Given the description of an element on the screen output the (x, y) to click on. 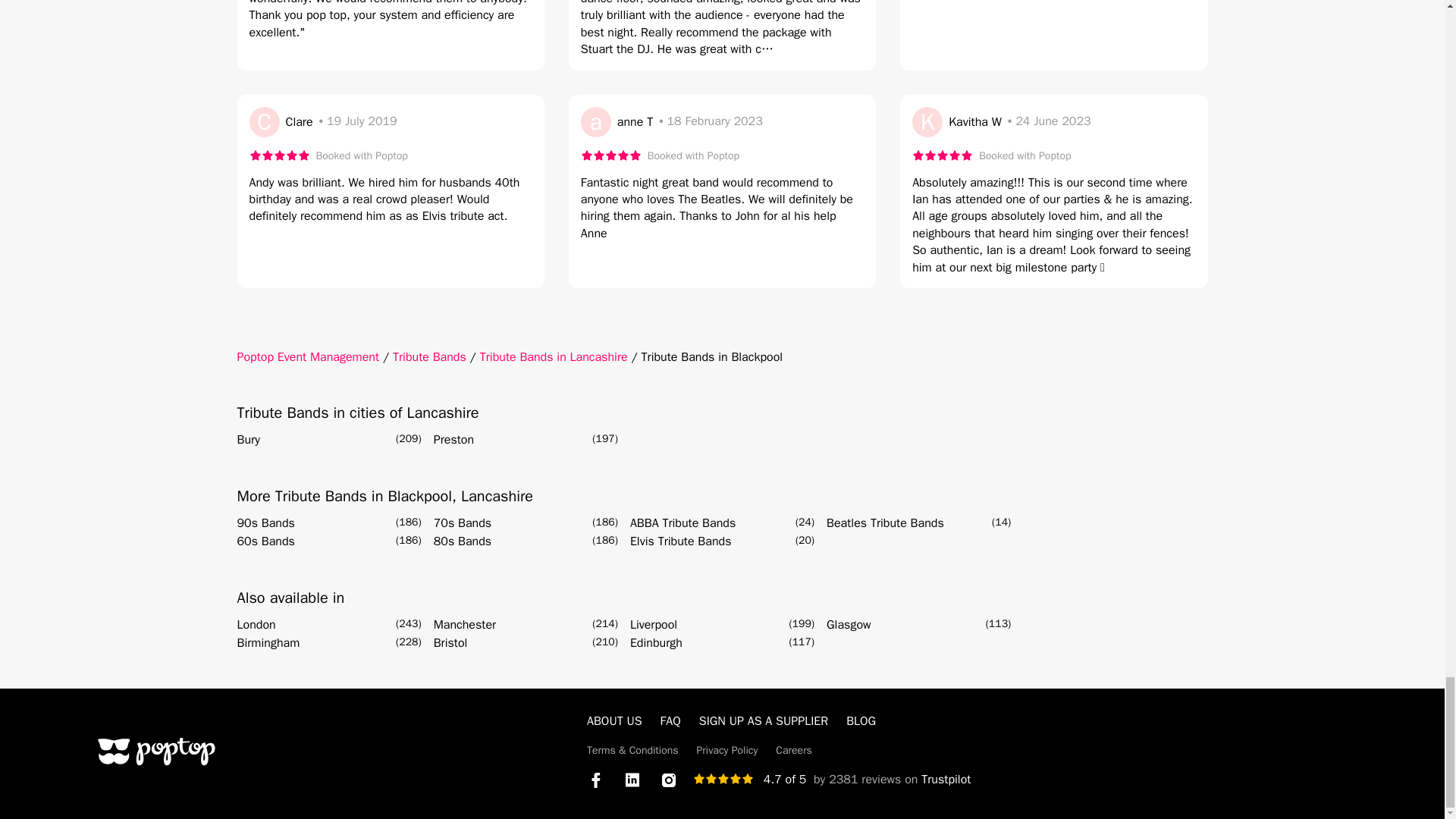
Tribute Bands (429, 356)
Preston (453, 439)
Elvis Tribute Bands (681, 541)
90s Bands (264, 523)
Tribute Bands in Lancashire (553, 356)
London (255, 624)
Beatles Tribute Bands (885, 523)
Birmingham (267, 642)
Poptop Event Management (306, 356)
70s Bands (462, 523)
60s Bands (264, 541)
Manchester (464, 624)
ABBA Tribute Bands (682, 523)
Bury (247, 439)
80s Bands (462, 541)
